Given the description of an element on the screen output the (x, y) to click on. 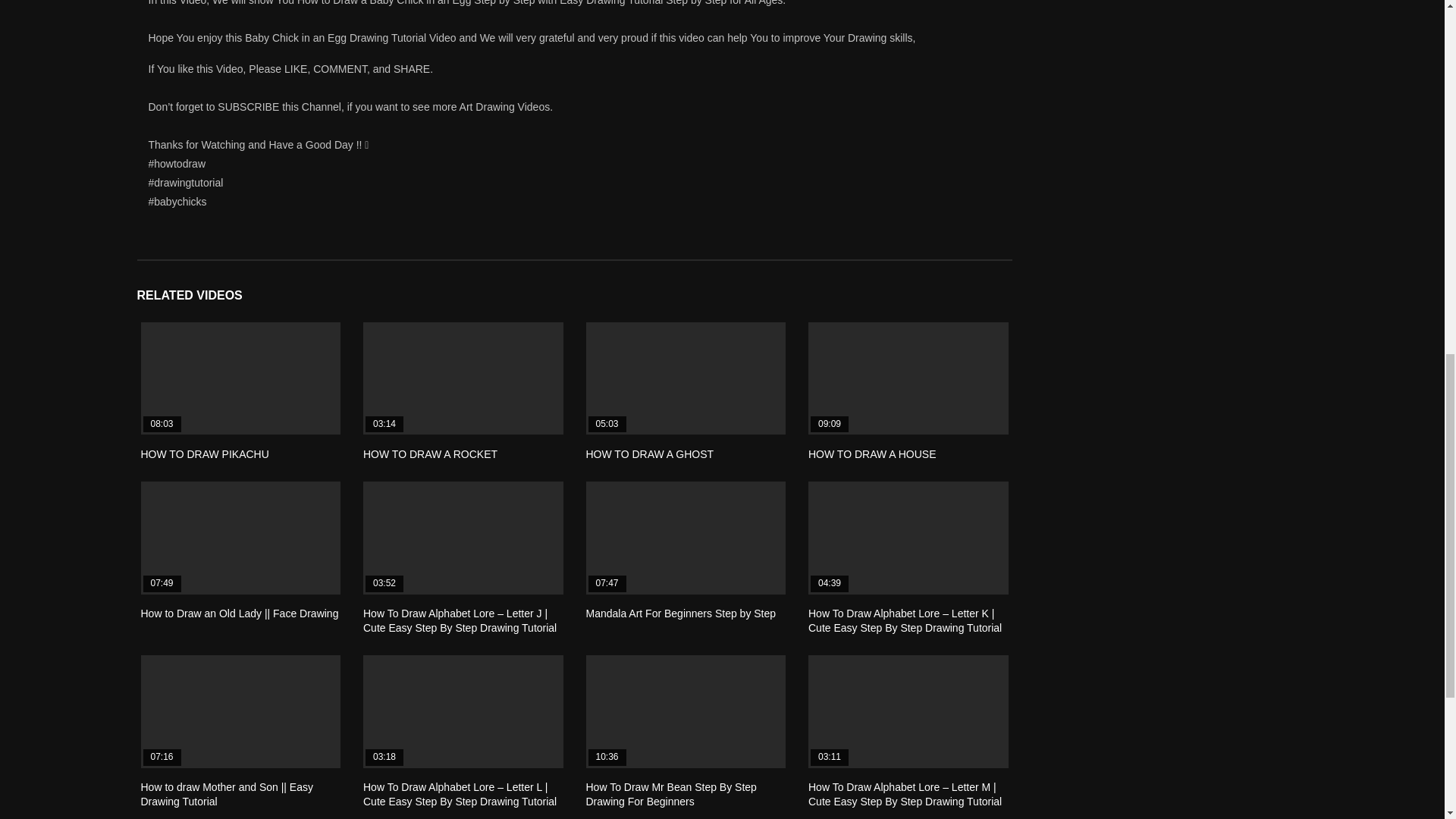
HOW TO DRAW A ROCKET (429, 453)
HOW TO DRAW A GHOST (685, 378)
HOW TO DRAW A ROCKET (429, 453)
HOW TO DRAW A HOUSE (872, 453)
HOW TO DRAW A HOUSE (908, 378)
HOW TO DRAW PIKACHU (240, 378)
HOW TO DRAW A ROCKET (462, 378)
HOW TO DRAW A GHOST (649, 453)
HOW TO DRAW PIKACHU (205, 453)
HOW TO DRAW A GHOST (649, 453)
HOW TO DRAW PIKACHU (205, 453)
